Given the description of an element on the screen output the (x, y) to click on. 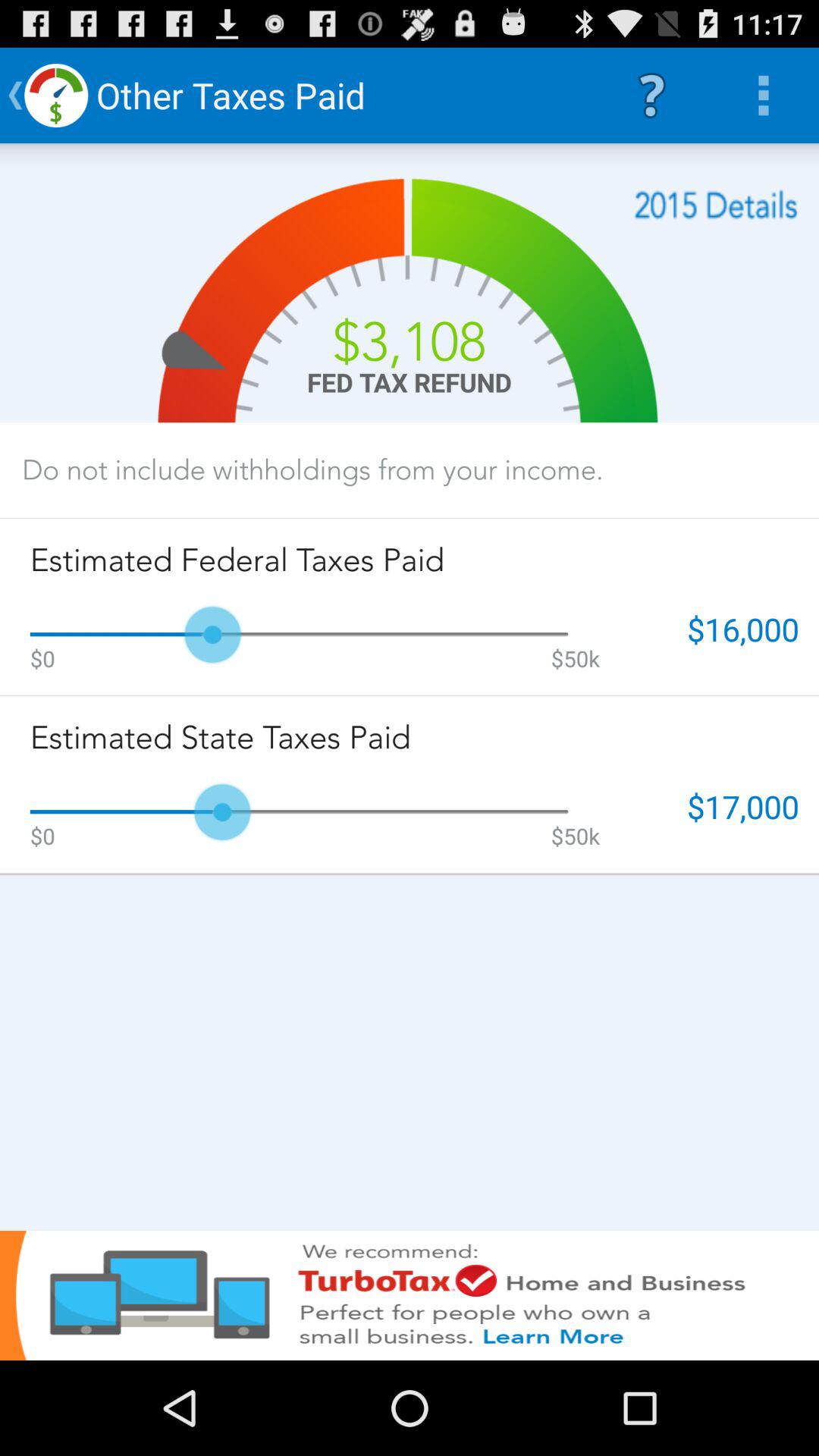
click the item next to the other taxes paid (651, 95)
